Given the description of an element on the screen output the (x, y) to click on. 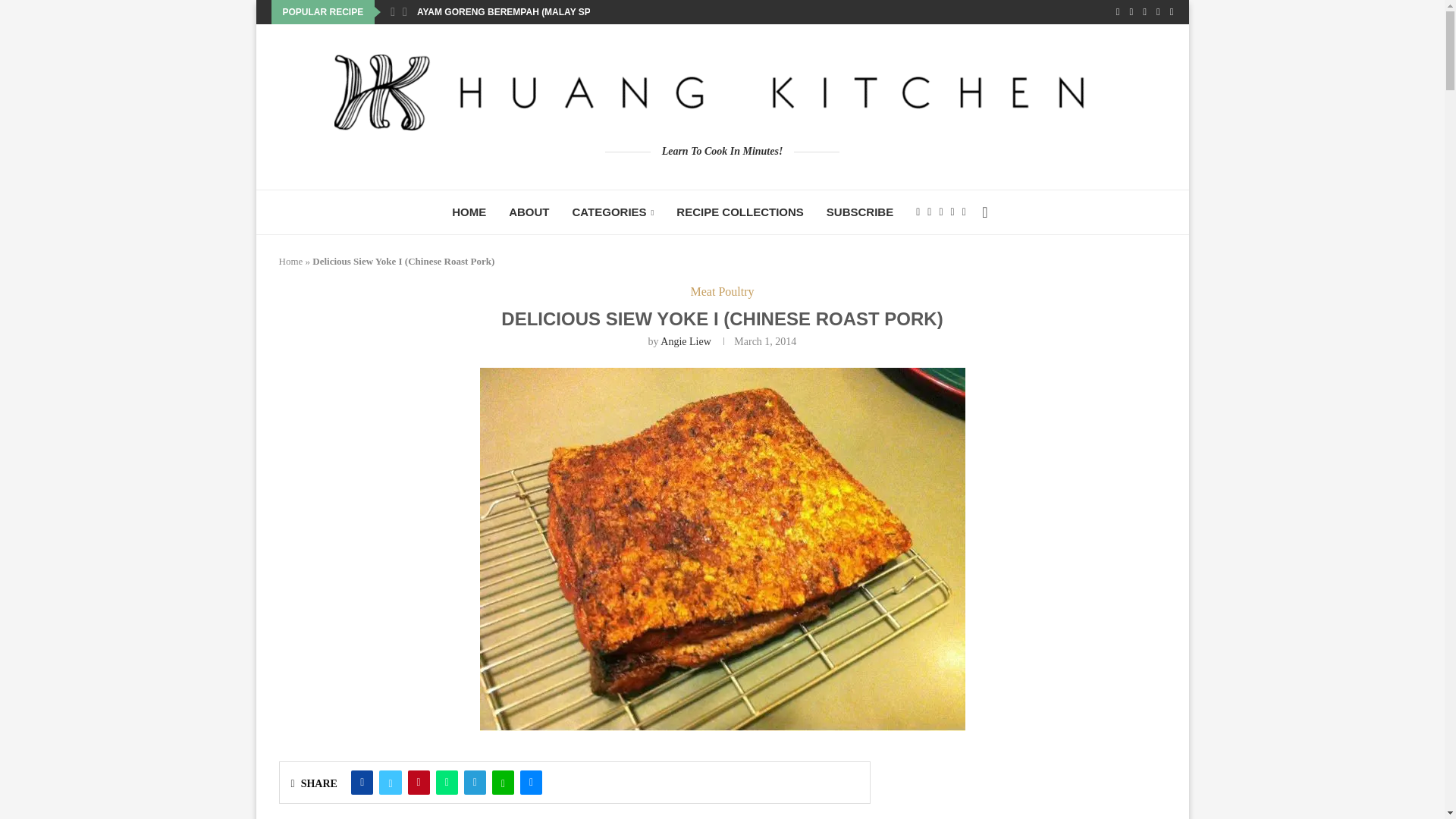
Meat Poultry (722, 291)
CATEGORIES (612, 212)
SUBSCRIBE (860, 212)
ABOUT (528, 212)
RECIPE COLLECTIONS (740, 212)
About (528, 212)
Home (290, 260)
